Given the description of an element on the screen output the (x, y) to click on. 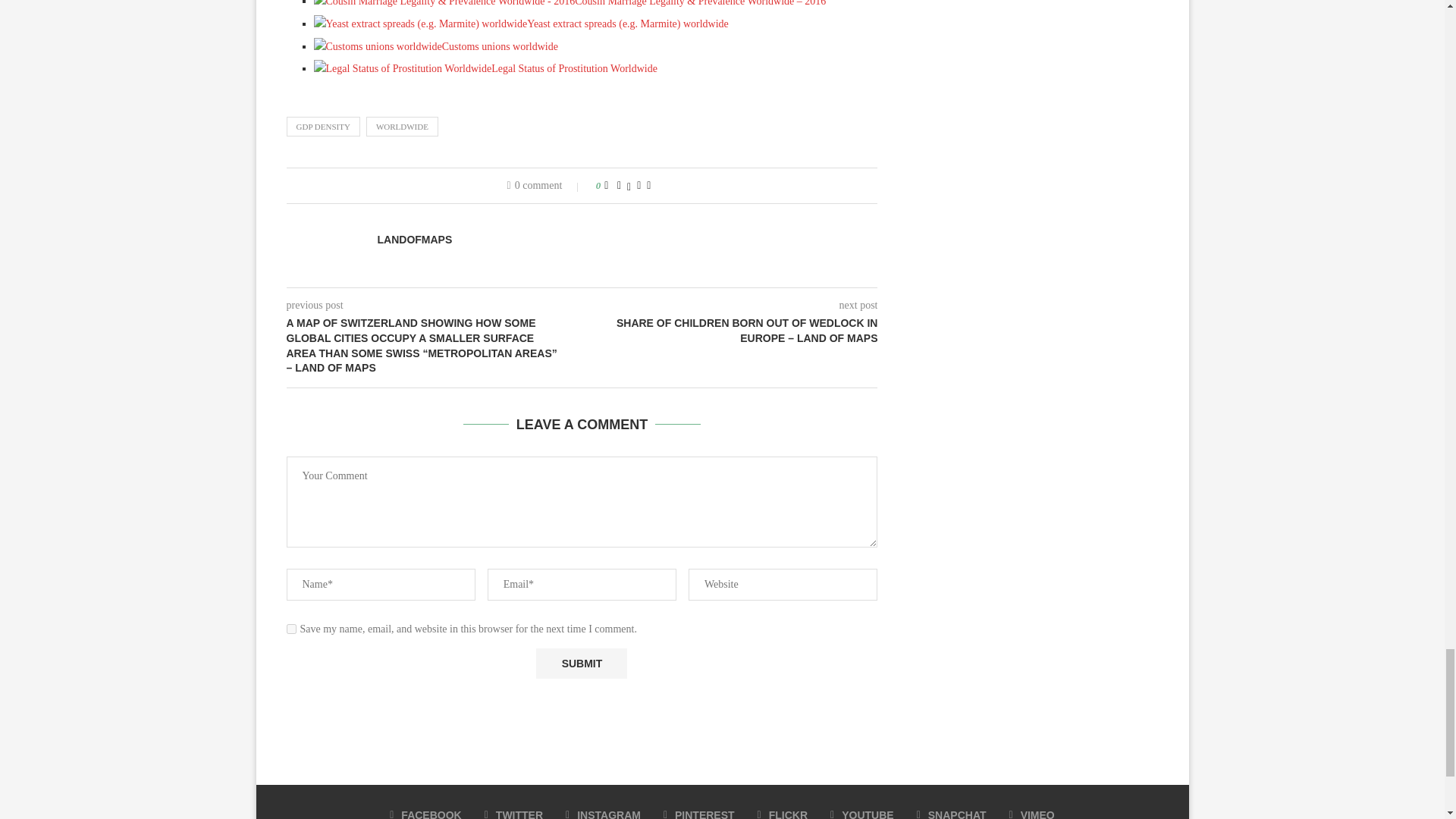
Author landofmaps (414, 239)
Customs unions worldwide (435, 46)
Legal Status of Prostitution Worldwide (403, 68)
yes (291, 628)
Customs unions worldwide (378, 46)
Submit (581, 663)
